Given the description of an element on the screen output the (x, y) to click on. 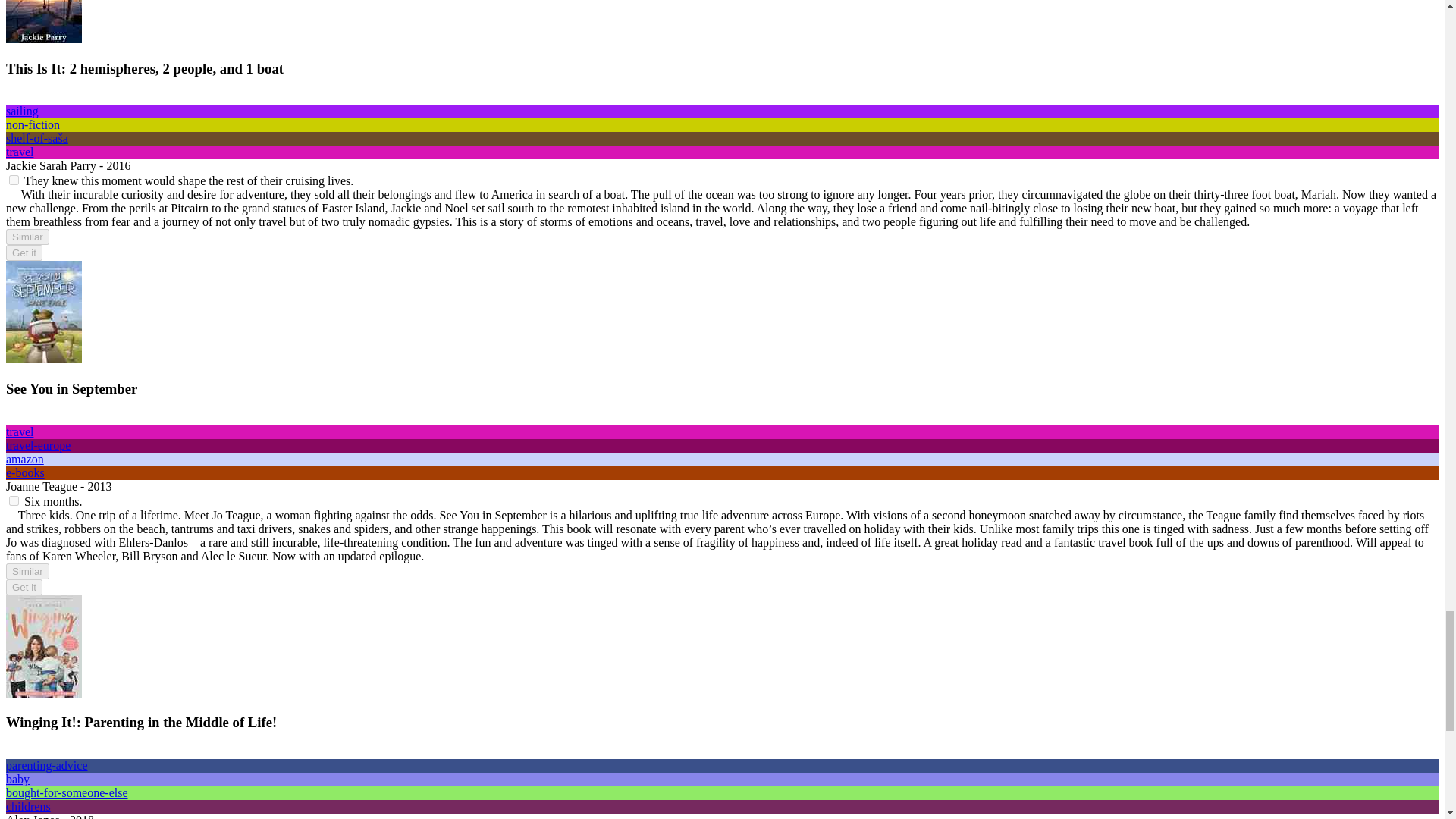
on (13, 501)
on (13, 180)
